Given the description of an element on the screen output the (x, y) to click on. 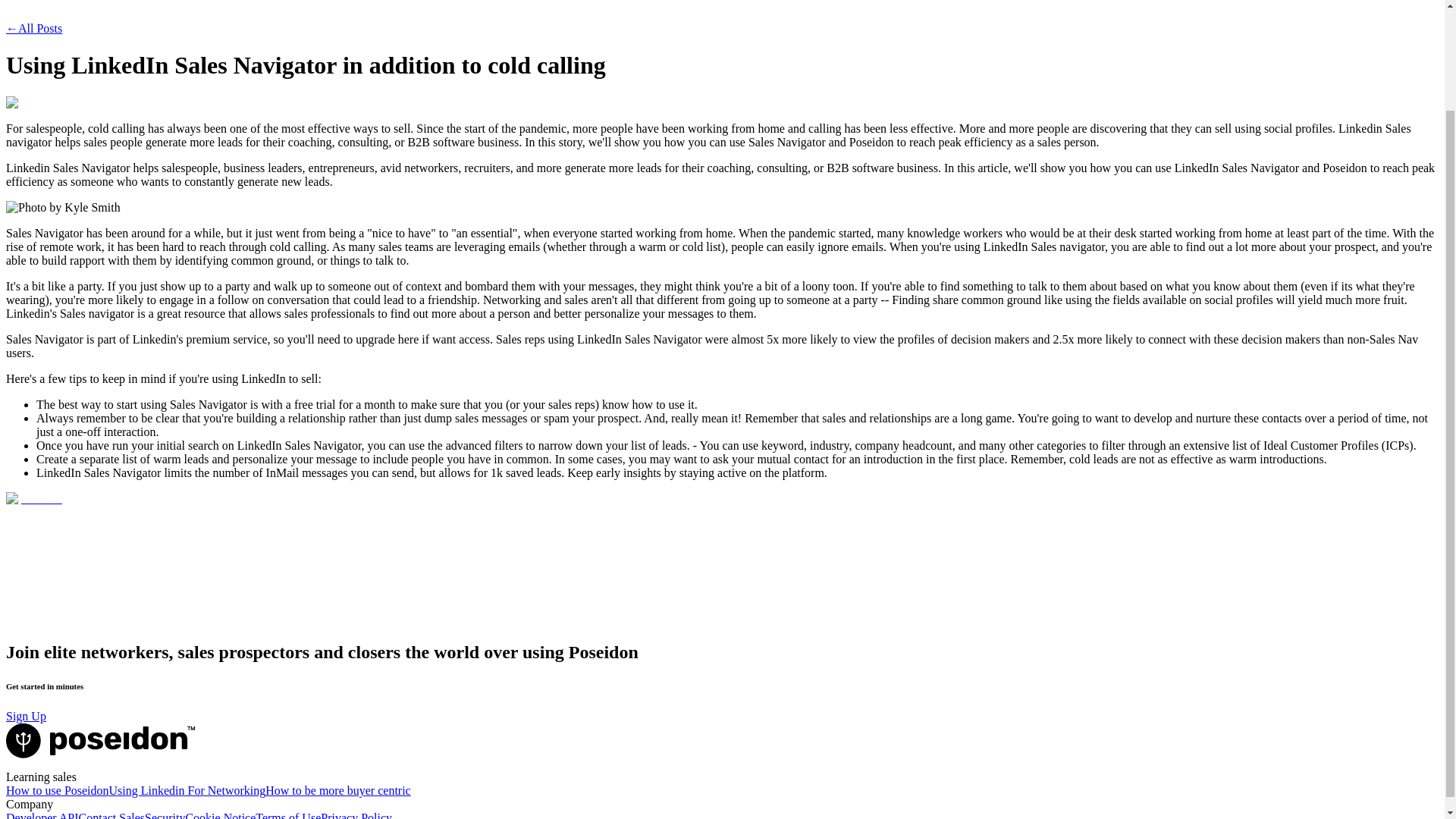
Sign Up (25, 716)
Using Linkedin For Networking (187, 789)
How to be more buyer centric (337, 789)
How to use Poseidon (57, 789)
